Given the description of an element on the screen output the (x, y) to click on. 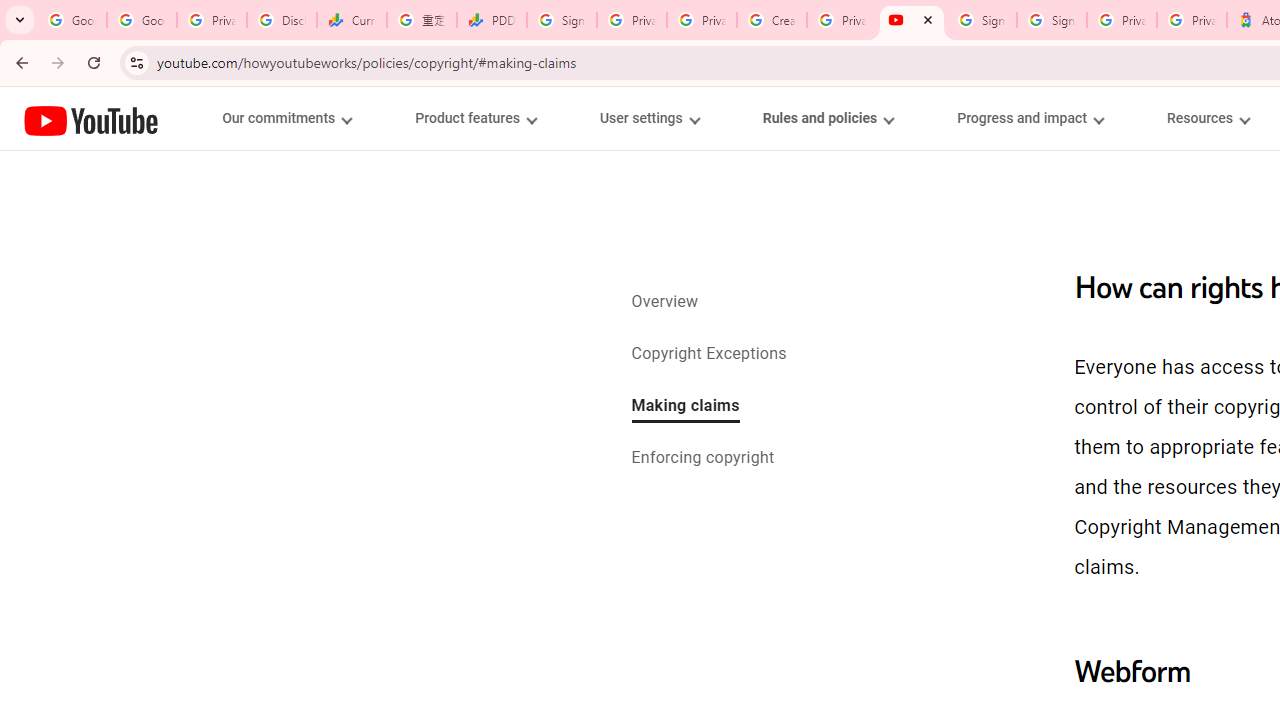
User settings menupopup (648, 118)
Sign in - Google Accounts (1051, 20)
Resources menupopup (1208, 118)
Copyright Exceptions (709, 354)
PDD Holdings Inc - ADR (PDD) Price & News - Google Finance (492, 20)
Rules and policies menupopup (827, 118)
Currencies - Google Finance (351, 20)
Making claims (685, 407)
YouTube Copyright Rules & Policies - How YouTube Works (911, 20)
Create your Google Account (772, 20)
